Given the description of an element on the screen output the (x, y) to click on. 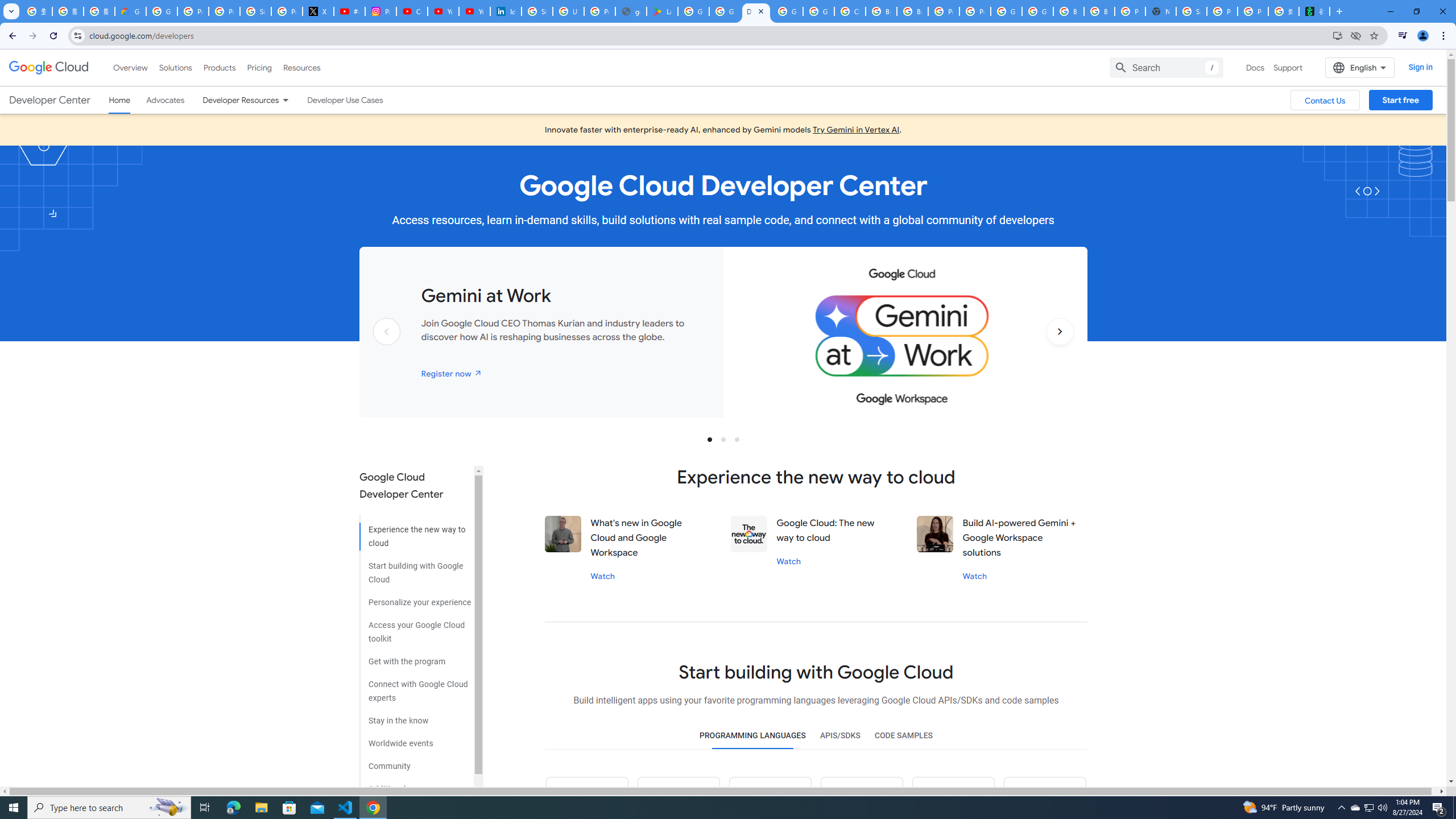
#nbabasketballhighlights - YouTube (349, 11)
CODE SAMPLES (903, 735)
Sign in - Google Accounts (255, 11)
CODE SAMPLES (903, 735)
Sign in - Google Accounts (536, 11)
Products (218, 67)
CPP icon (1044, 798)
google_privacy_policy_en.pdf (631, 11)
Try Gemini in Vertex AI (855, 129)
